Given the description of an element on the screen output the (x, y) to click on. 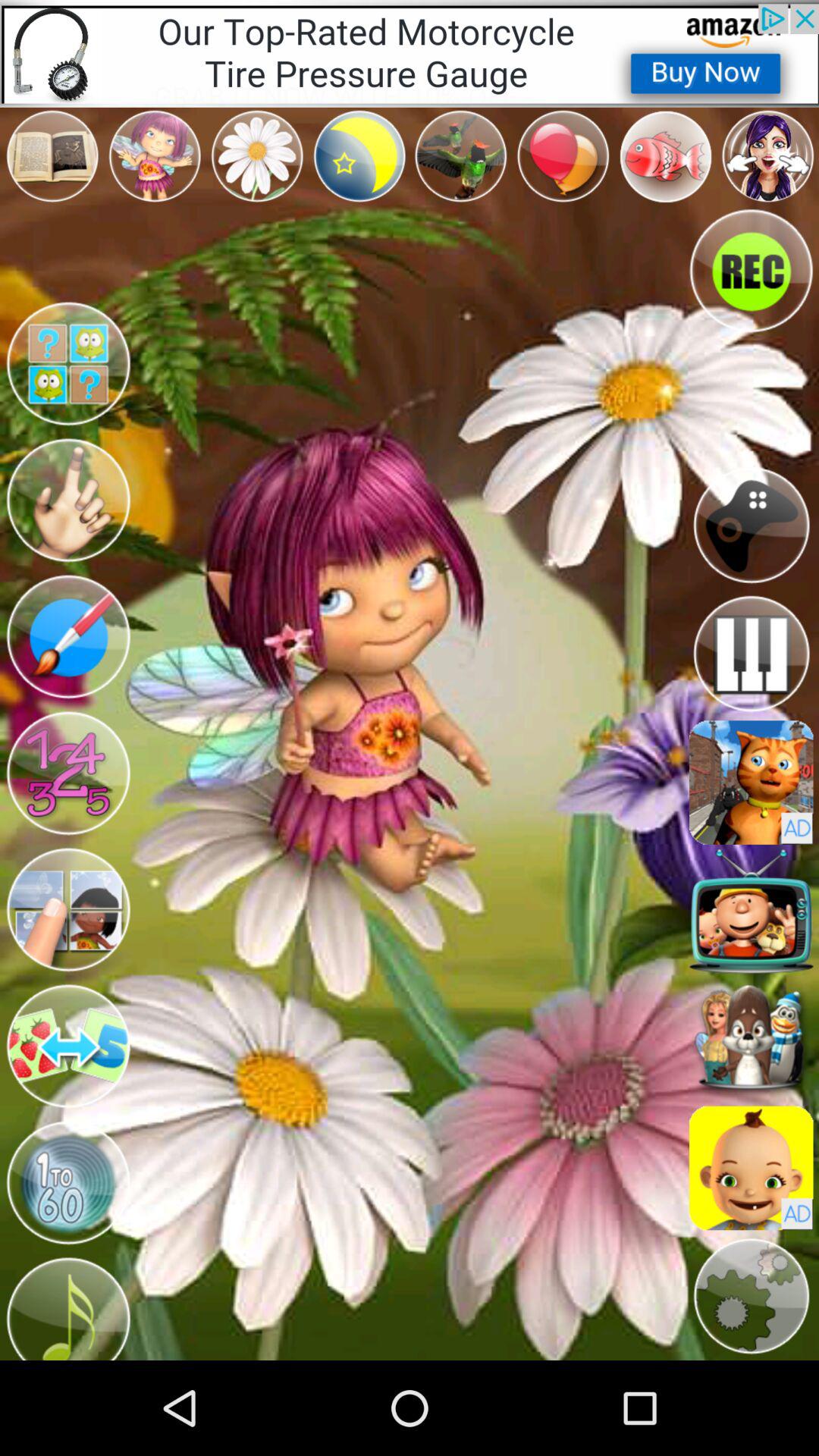
opens advertisement (751, 1167)
